Given the description of an element on the screen output the (x, y) to click on. 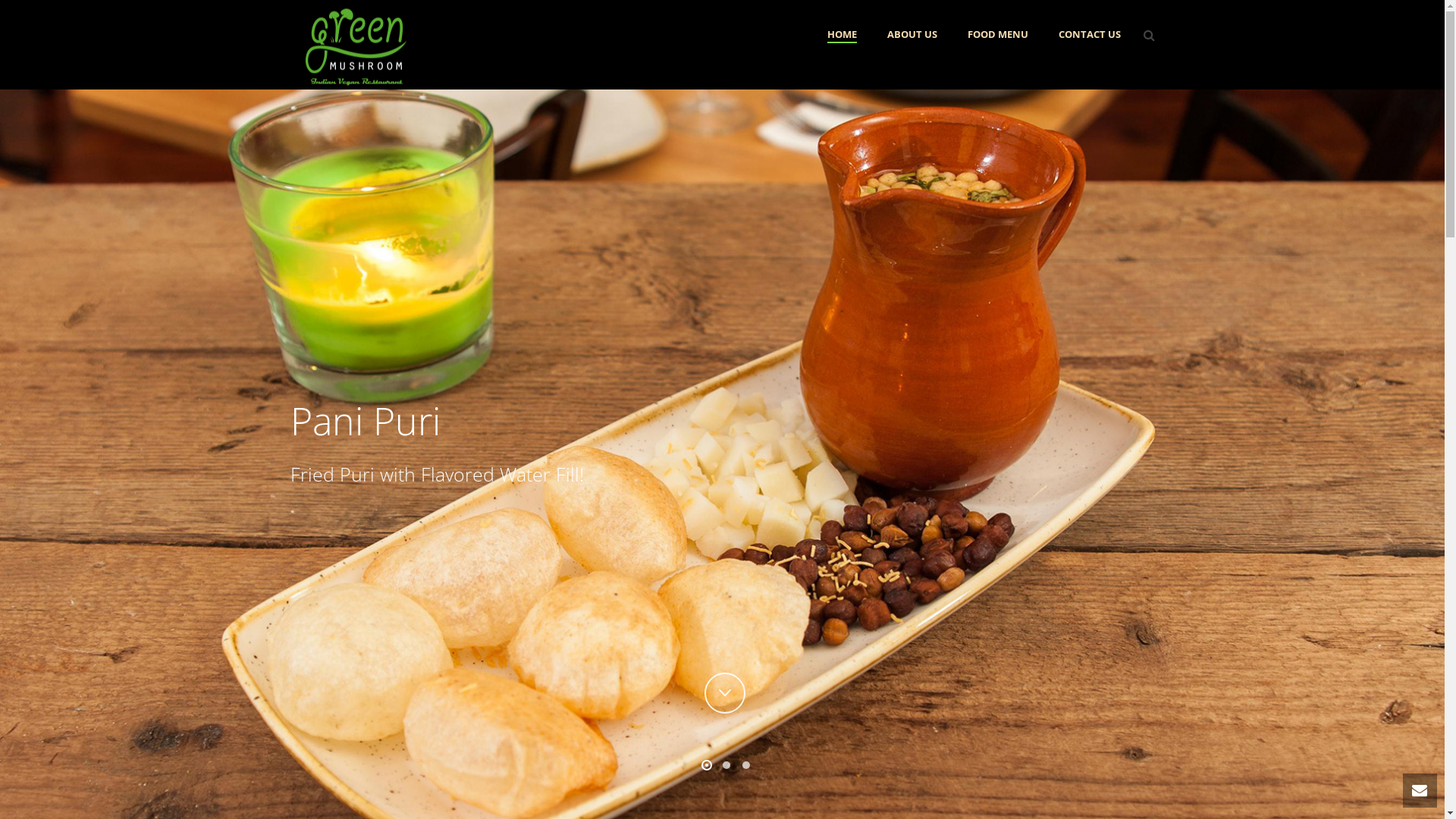
HOME Element type: text (841, 34)
FOOD MENU Element type: text (997, 34)
ABOUT US Element type: text (912, 34)
CONTACT US Element type: text (1089, 34)
